Given the description of an element on the screen output the (x, y) to click on. 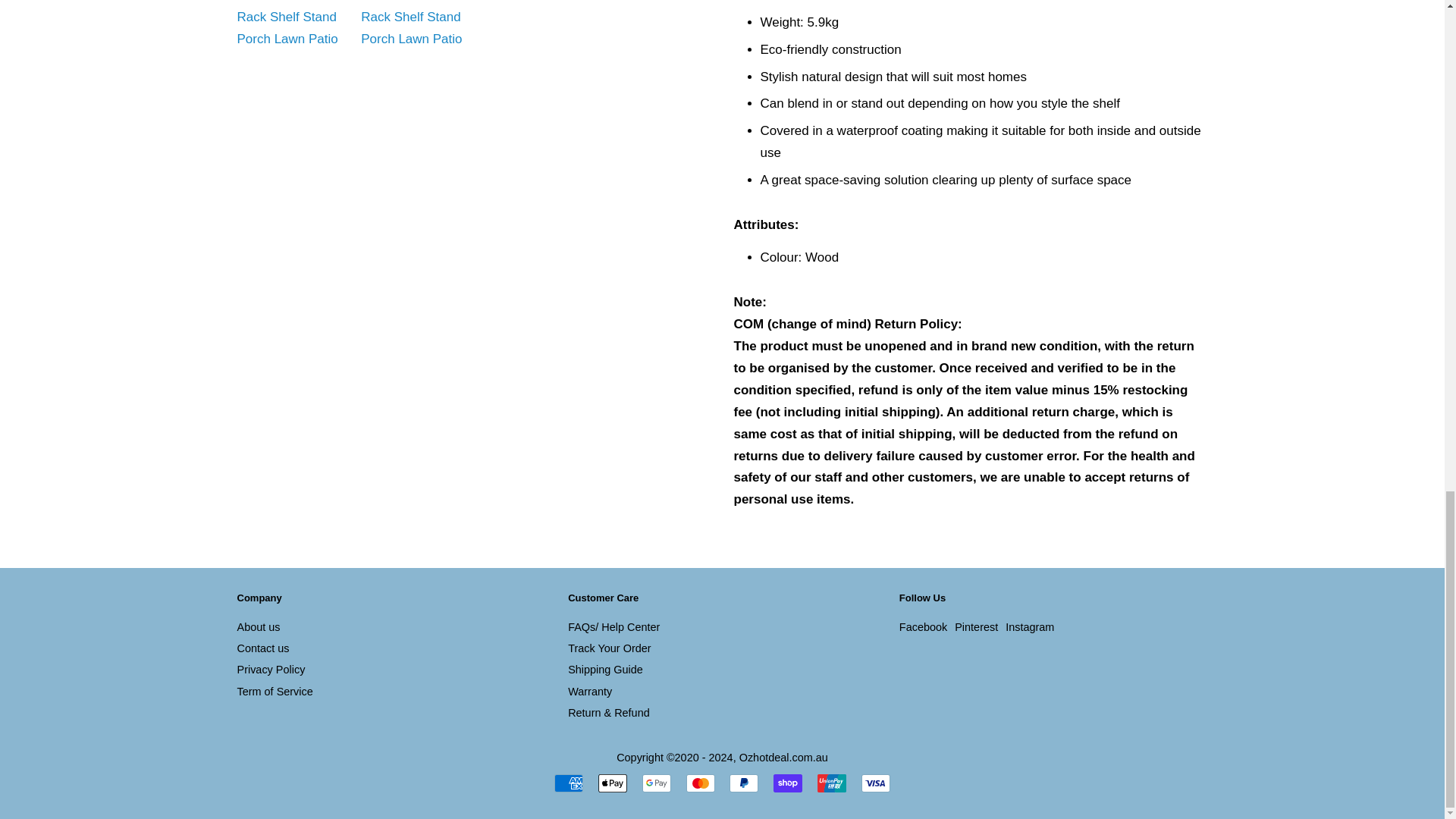
Google Pay (656, 782)
Visa (875, 782)
Mastercard (699, 782)
Ozhotdeal.com.au on Facebook (923, 626)
Union Pay (830, 782)
PayPal (743, 782)
Shop Pay (787, 782)
Ozhotdeal.com.au on Instagram (1030, 626)
Ozhotdeal.com.au on Pinterest (976, 626)
American Express (568, 782)
Apple Pay (612, 782)
